Given the description of an element on the screen output the (x, y) to click on. 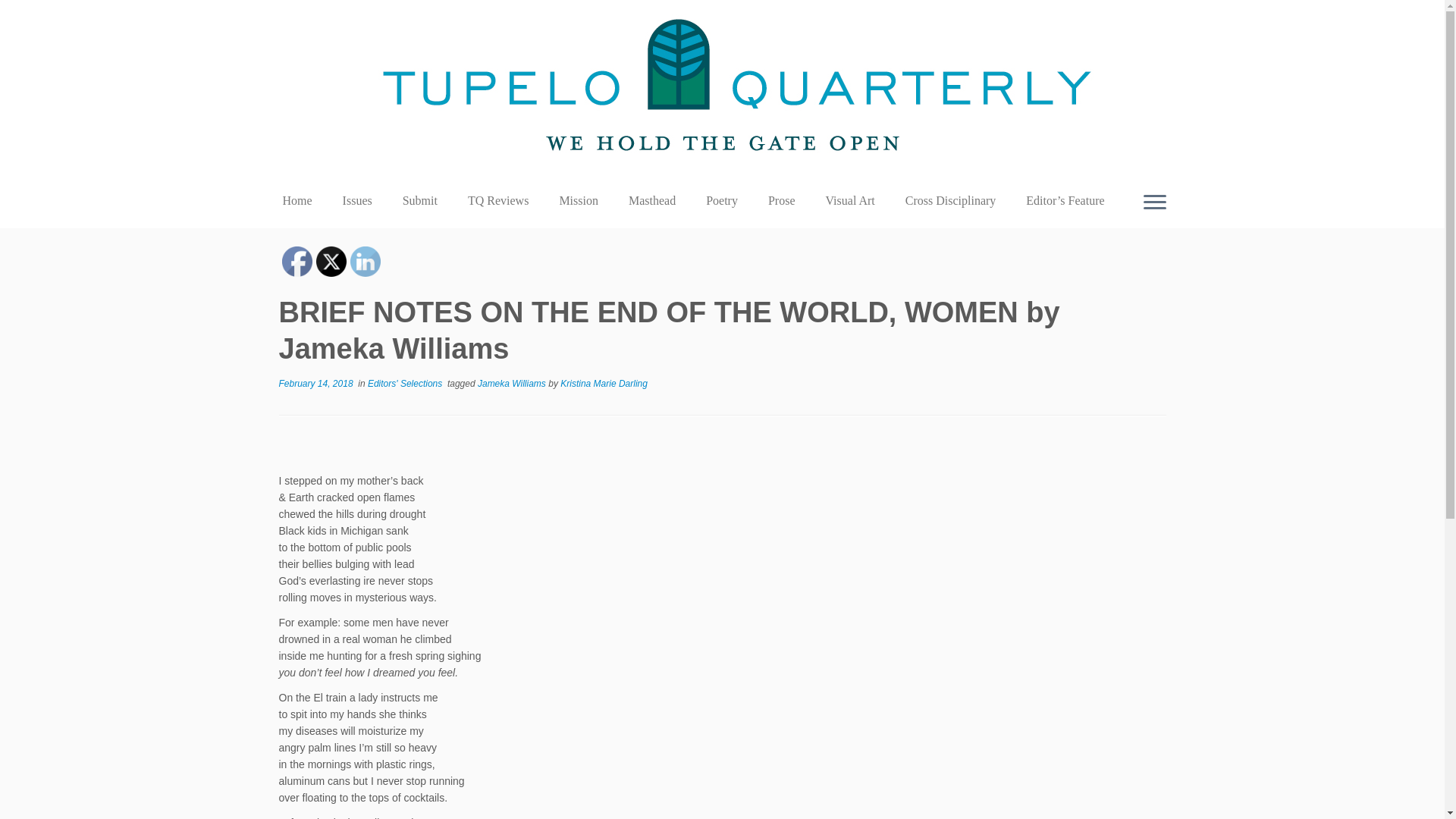
Facebook (297, 261)
Mission (577, 200)
Submit (419, 200)
Editors' Selections (406, 383)
February 14, 2018 (316, 383)
LinkedIn (365, 261)
Kristina Marie Darling (603, 383)
TQ Reviews (497, 200)
Home (303, 200)
Cross Disciplinary (950, 200)
